Given the description of an element on the screen output the (x, y) to click on. 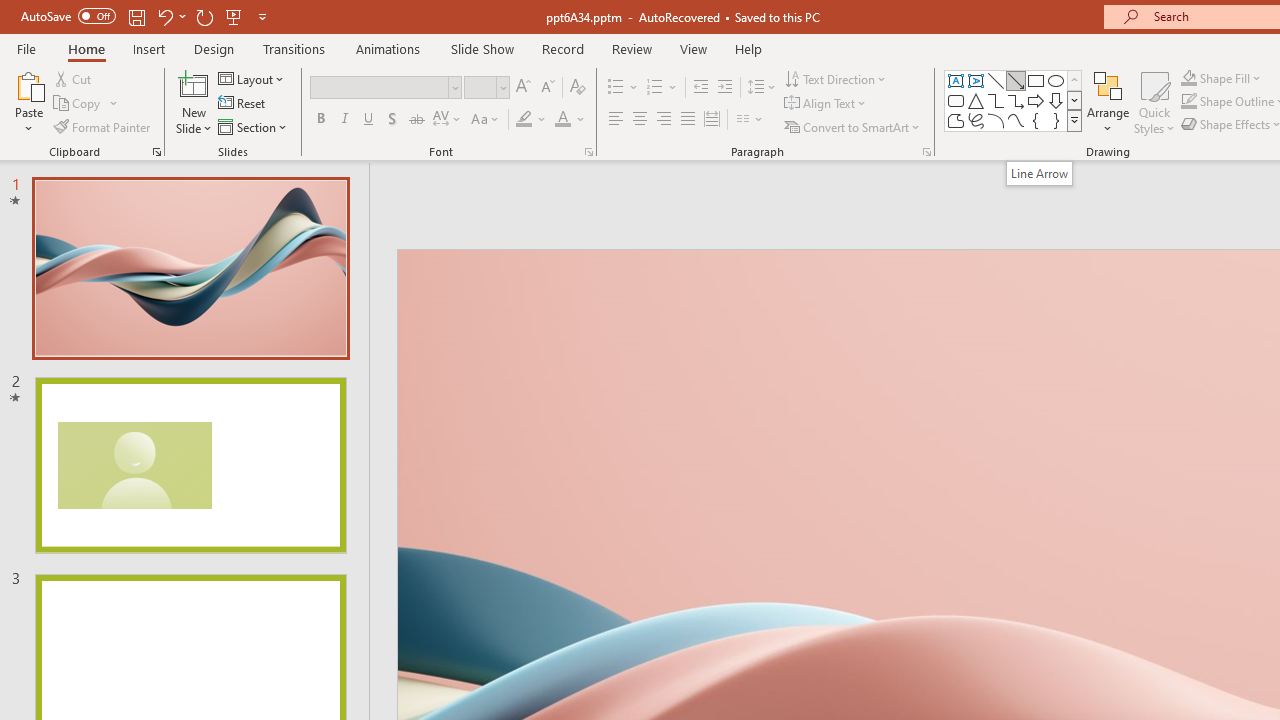
Increase Indent (725, 87)
Format Painter (103, 126)
Align Right (663, 119)
Section (254, 126)
Numbering (654, 87)
Layout (252, 78)
Distributed (712, 119)
Vertical Text Box (975, 80)
Freeform: Scribble (975, 120)
Shape Outline (1188, 101)
